Given the description of an element on the screen output the (x, y) to click on. 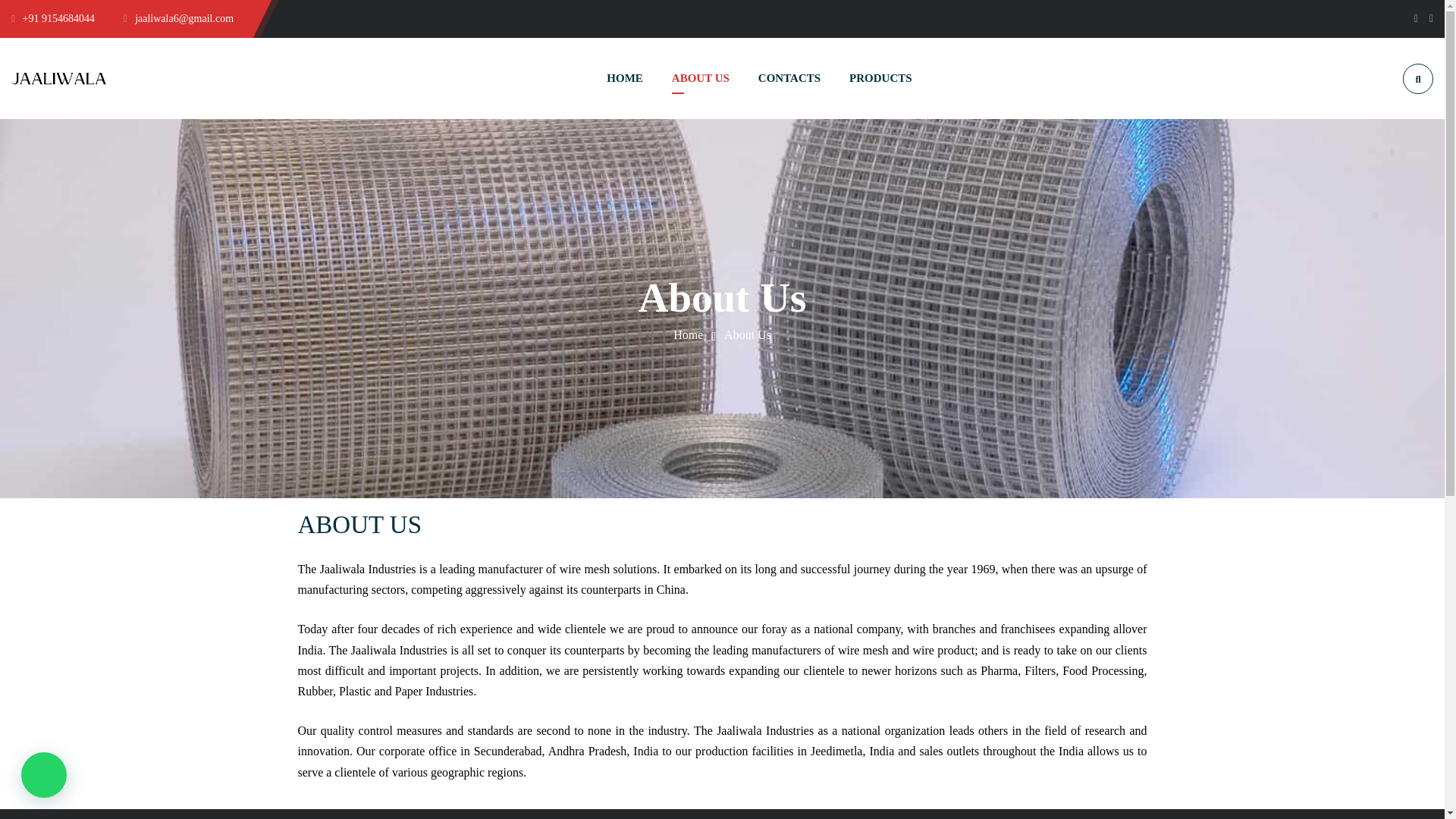
jaaliwala (58, 77)
jaaliwala (687, 334)
